Given the description of an element on the screen output the (x, y) to click on. 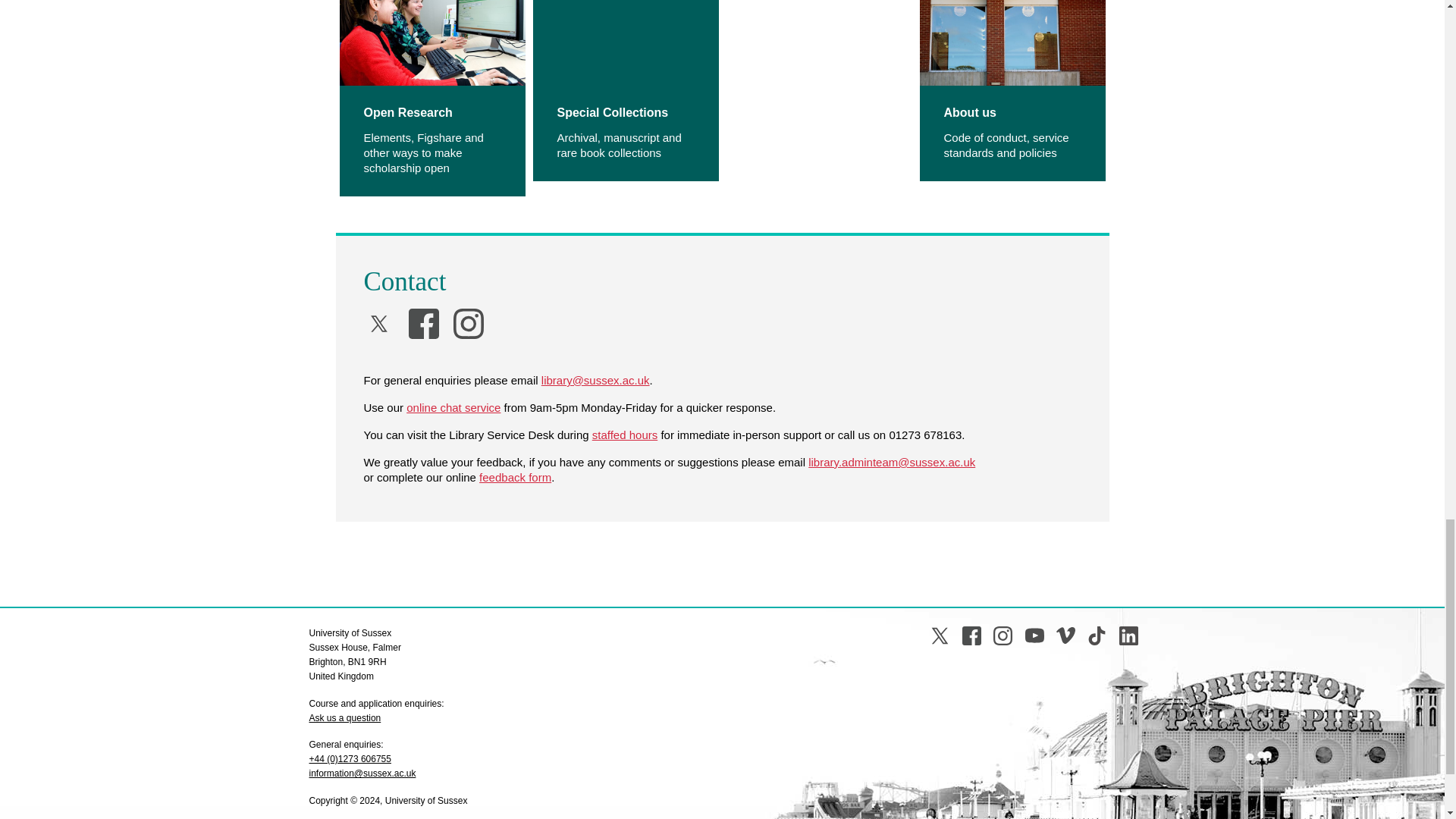
Tiktok (1096, 635)
Twitter (379, 323)
Instagram (1001, 635)
YouTube (1034, 635)
Facebook (424, 323)
Facebook (971, 635)
Twitter (939, 635)
Linkedin (1128, 635)
Instagram (467, 323)
Vimeo (1066, 635)
